Given the description of an element on the screen output the (x, y) to click on. 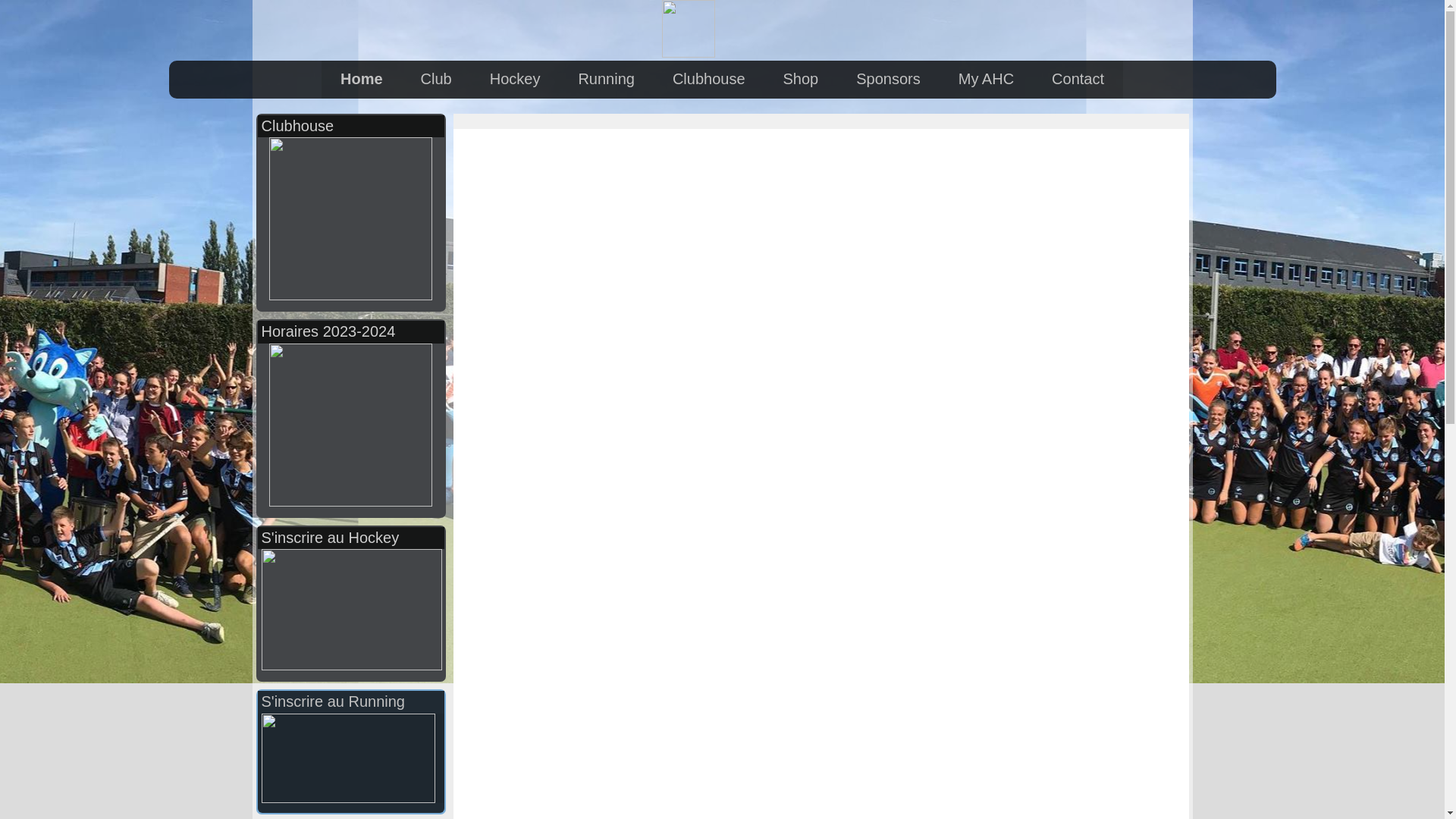
Contact Element type: text (1077, 79)
Clubhouse Element type: text (708, 79)
Running Element type: text (605, 79)
Home Element type: text (361, 79)
My AHC Element type: text (985, 79)
Shop Element type: text (801, 79)
